Given the description of an element on the screen output the (x, y) to click on. 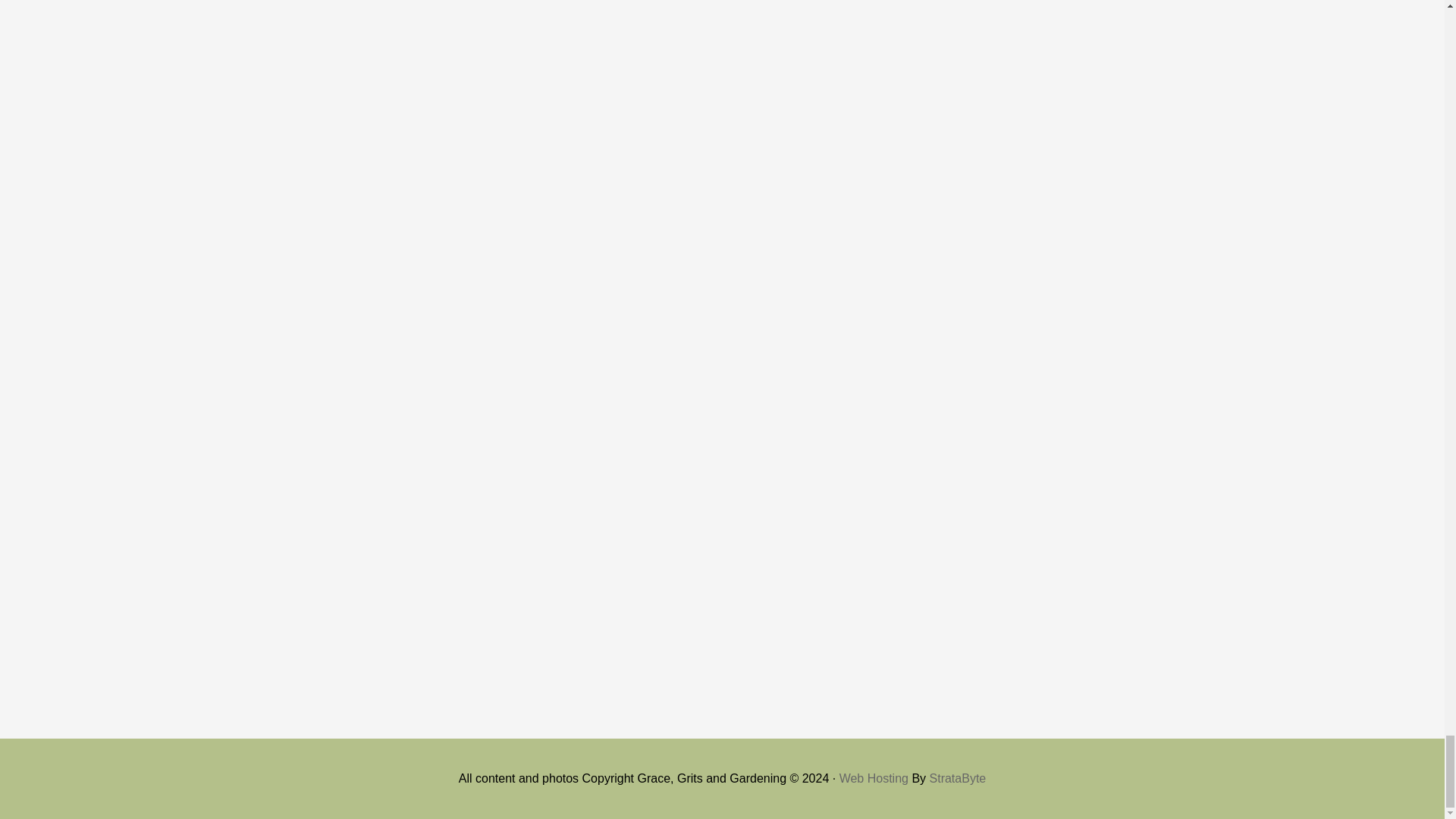
StrataByte (958, 778)
Web Hosting (874, 778)
